Given the description of an element on the screen output the (x, y) to click on. 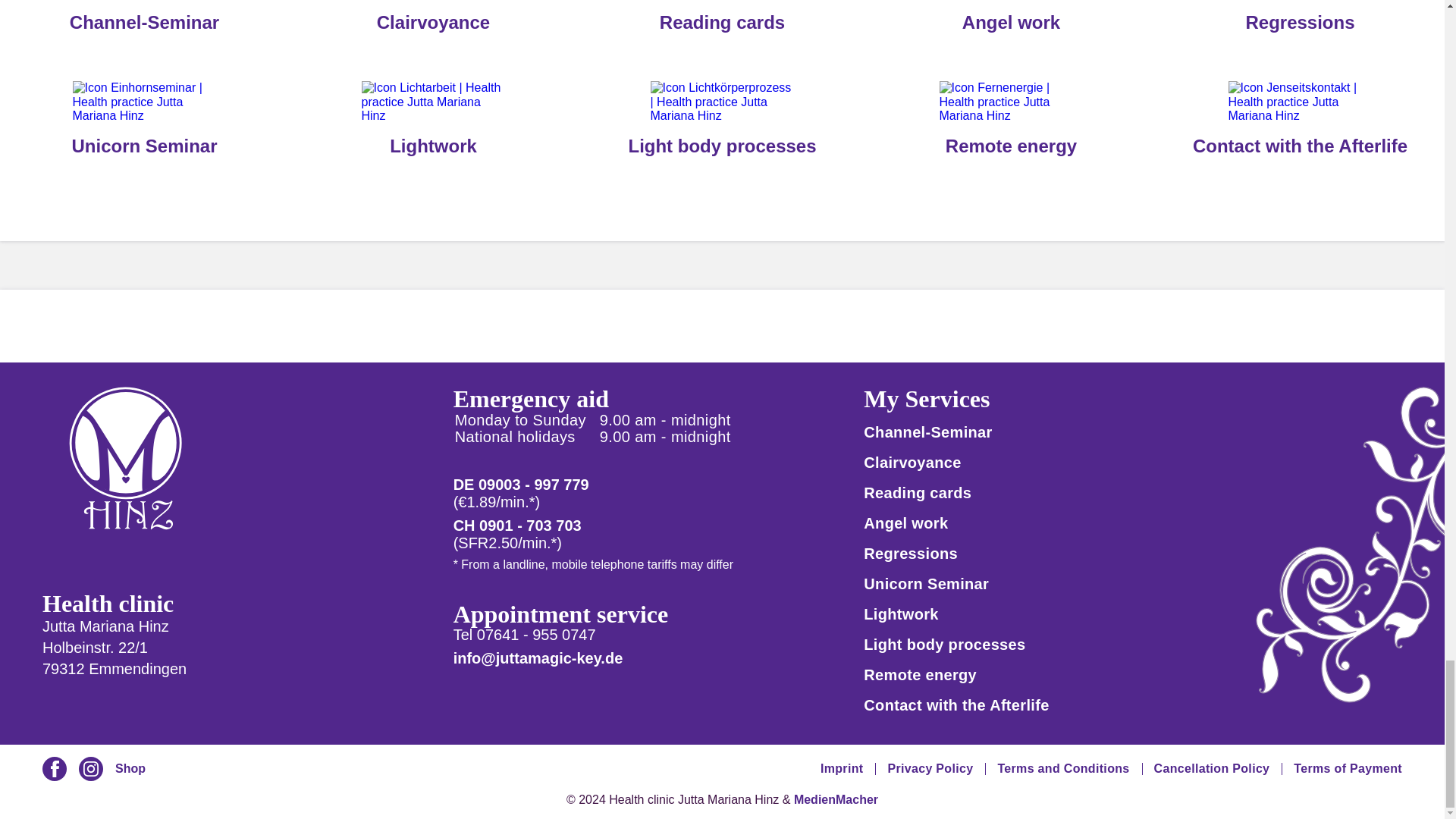
Clairvoyance (433, 16)
Channel-Seminar (144, 16)
